Given the description of an element on the screen output the (x, y) to click on. 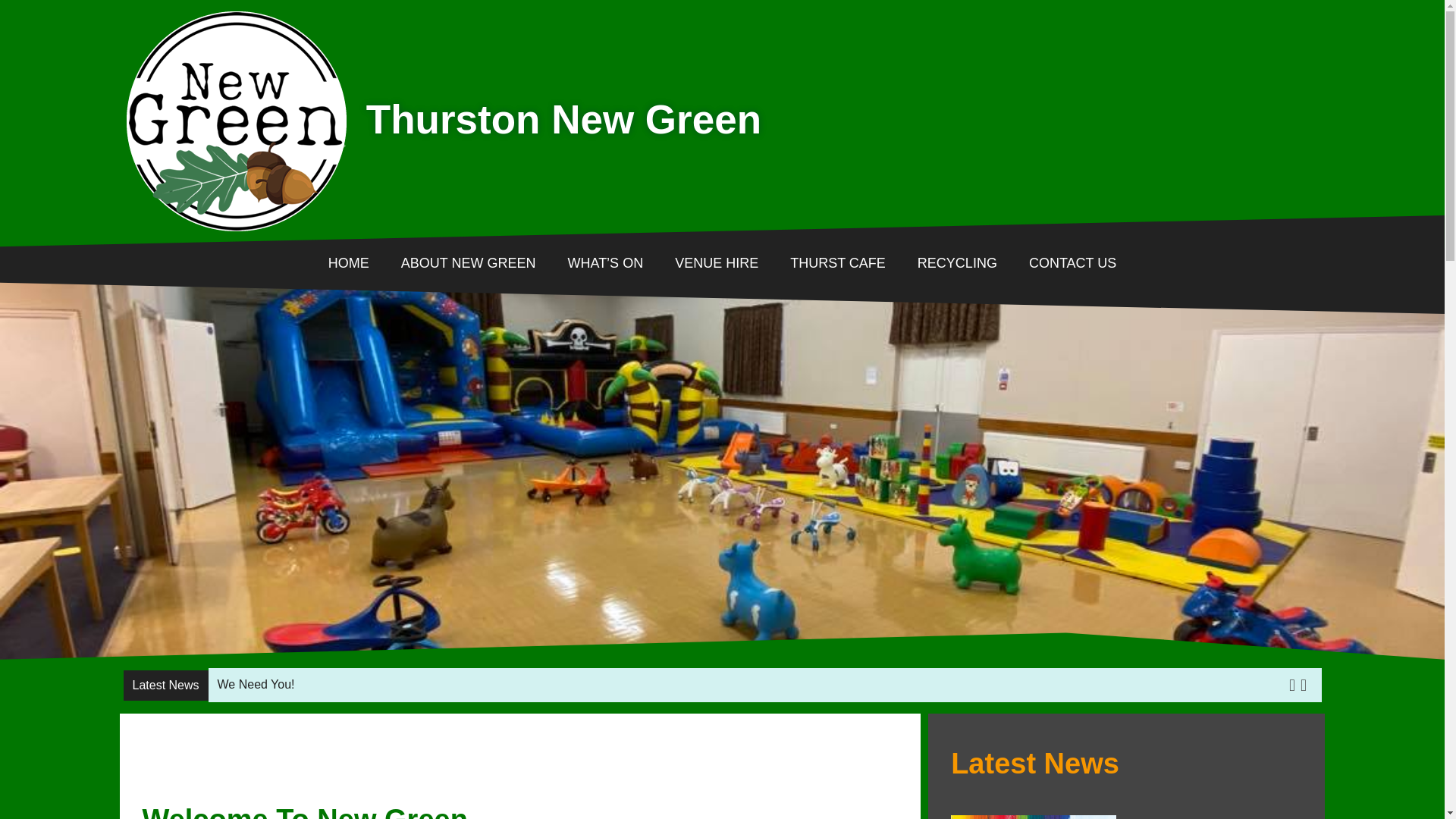
Thurston New Green (211, 243)
THURST CAFE (837, 263)
ABOUT NEW GREEN (468, 263)
CONTACT US (1064, 263)
We Need You! (255, 684)
Thurston New Green (236, 121)
HOME (357, 263)
Thurston New Green (211, 243)
VENUE HIRE (716, 263)
Thurston New Green (563, 119)
RECYCLING (957, 263)
Thurston New Green (563, 119)
